Given the description of an element on the screen output the (x, y) to click on. 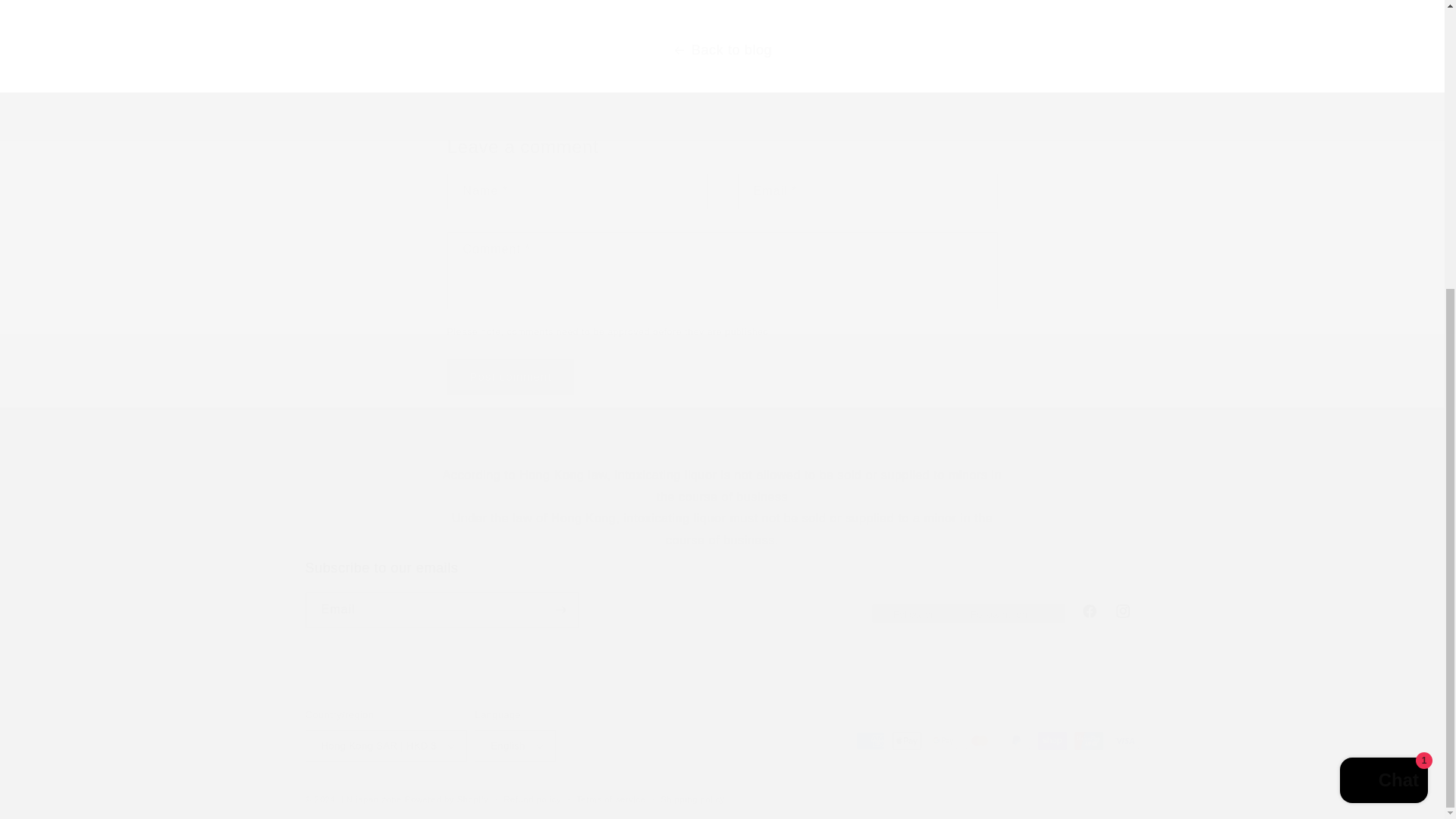
Facebook (721, 593)
Shopify online store chat (1088, 611)
Instagram (1383, 344)
Post comment (1121, 611)
Post comment (510, 376)
